Given the description of an element on the screen output the (x, y) to click on. 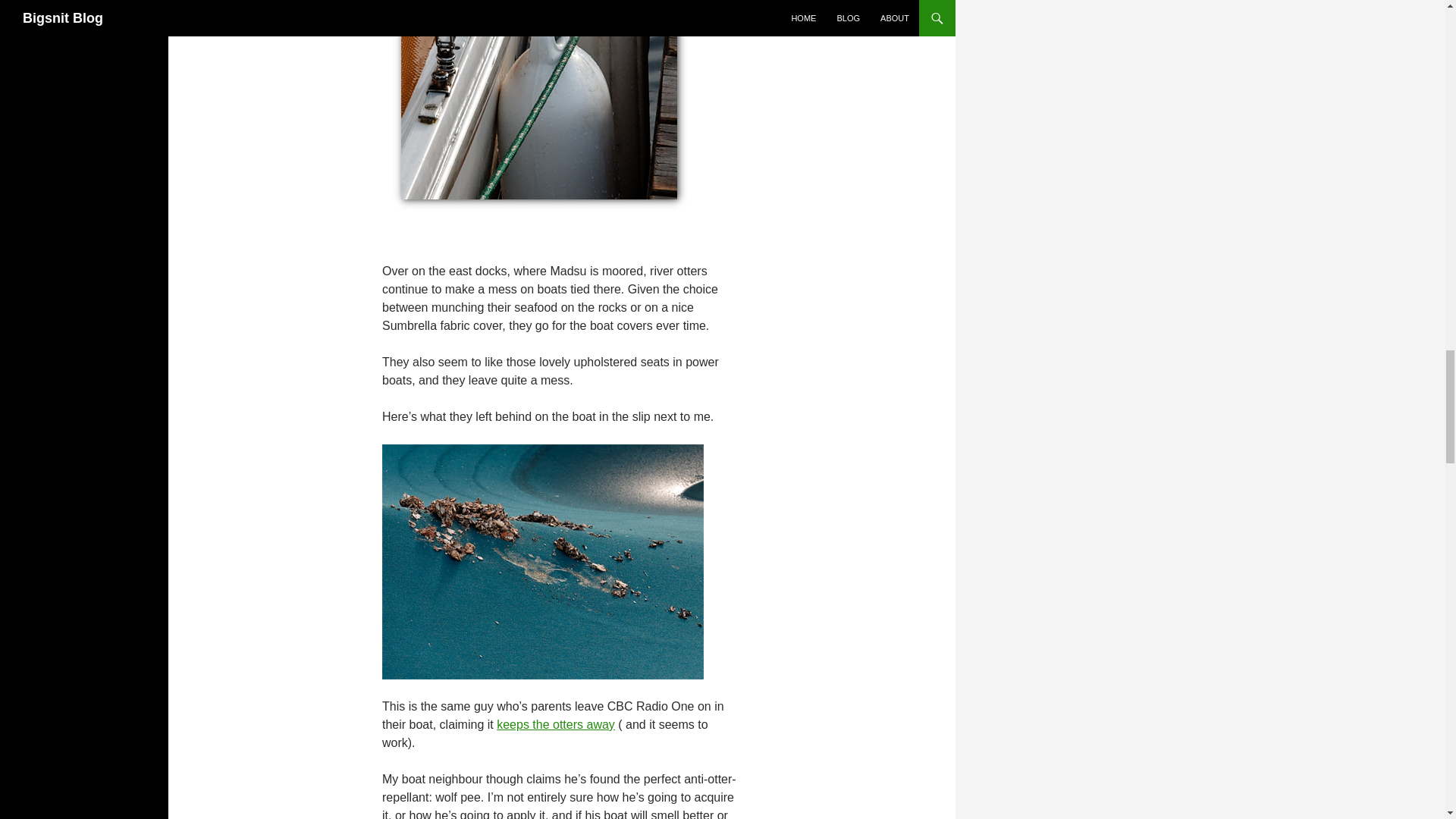
keeps the otters away (555, 724)
